Given the description of an element on the screen output the (x, y) to click on. 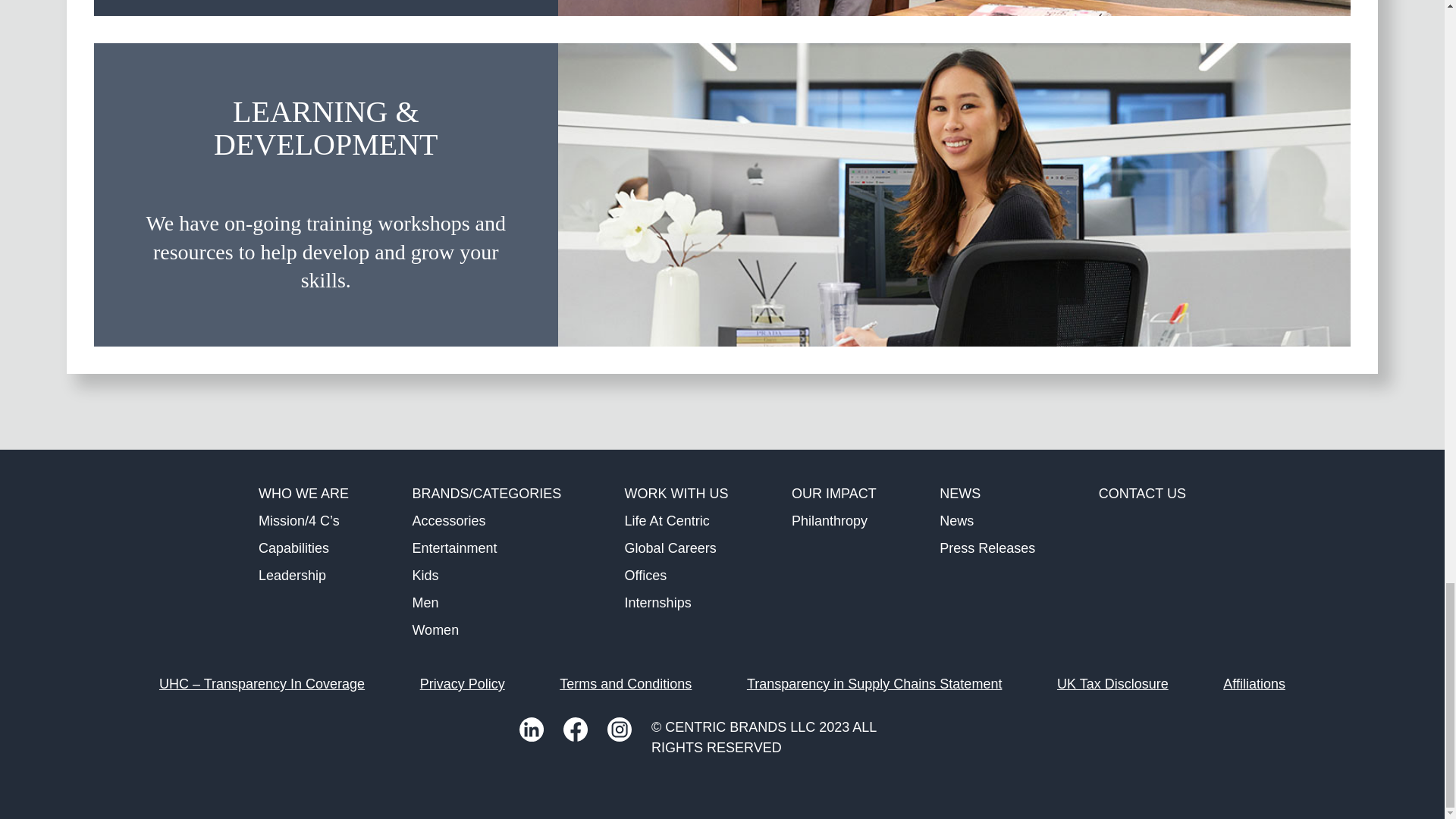
Offices (645, 575)
Global Careers (670, 548)
Philanthropy (829, 520)
Accessories (448, 520)
Women (435, 630)
Kids (425, 575)
Leadership (292, 575)
Capabilities (294, 548)
Entertainment (454, 548)
Internships (657, 602)
